Given the description of an element on the screen output the (x, y) to click on. 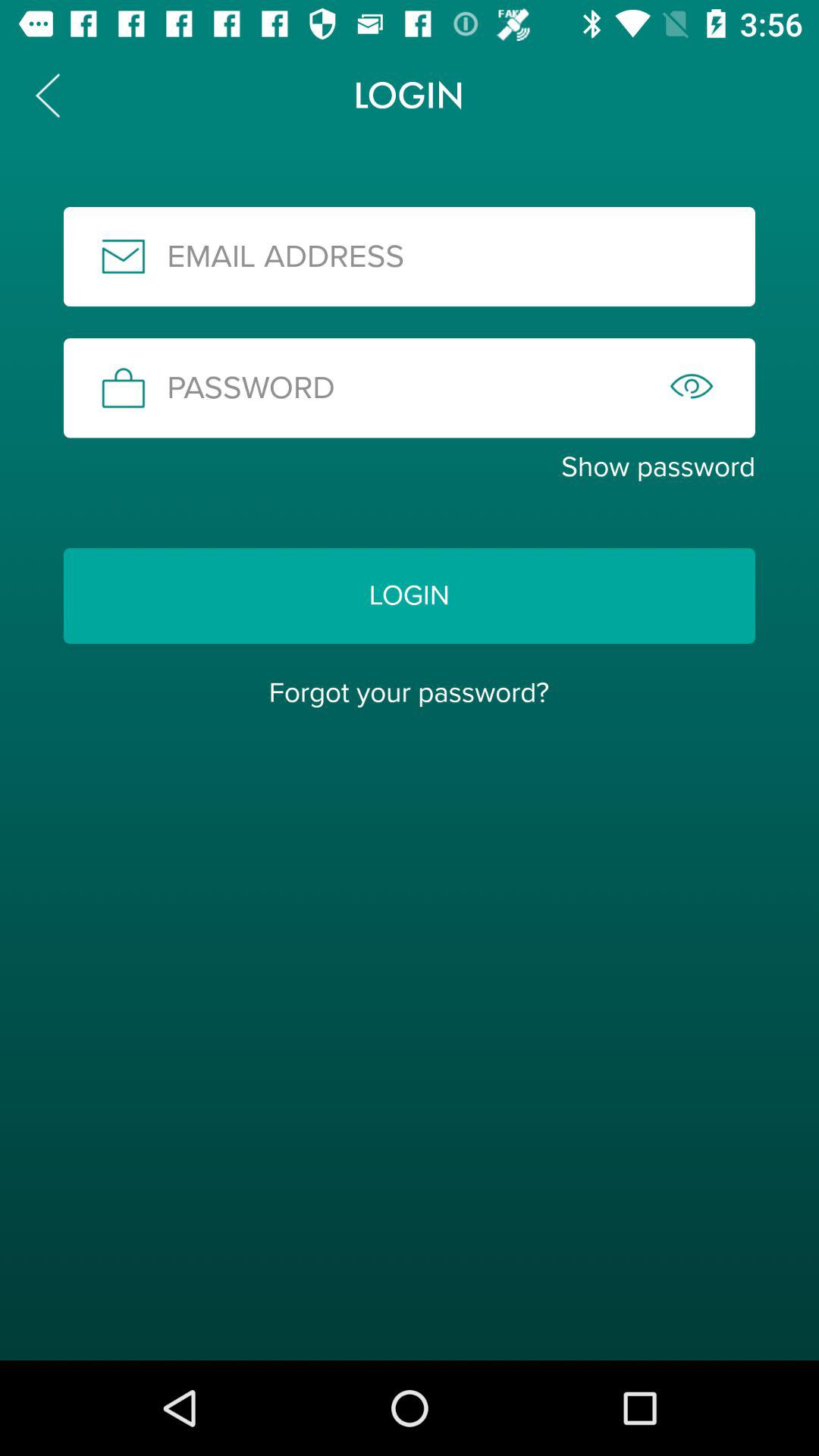
scroll until the forgot your password? icon (409, 692)
